Given the description of an element on the screen output the (x, y) to click on. 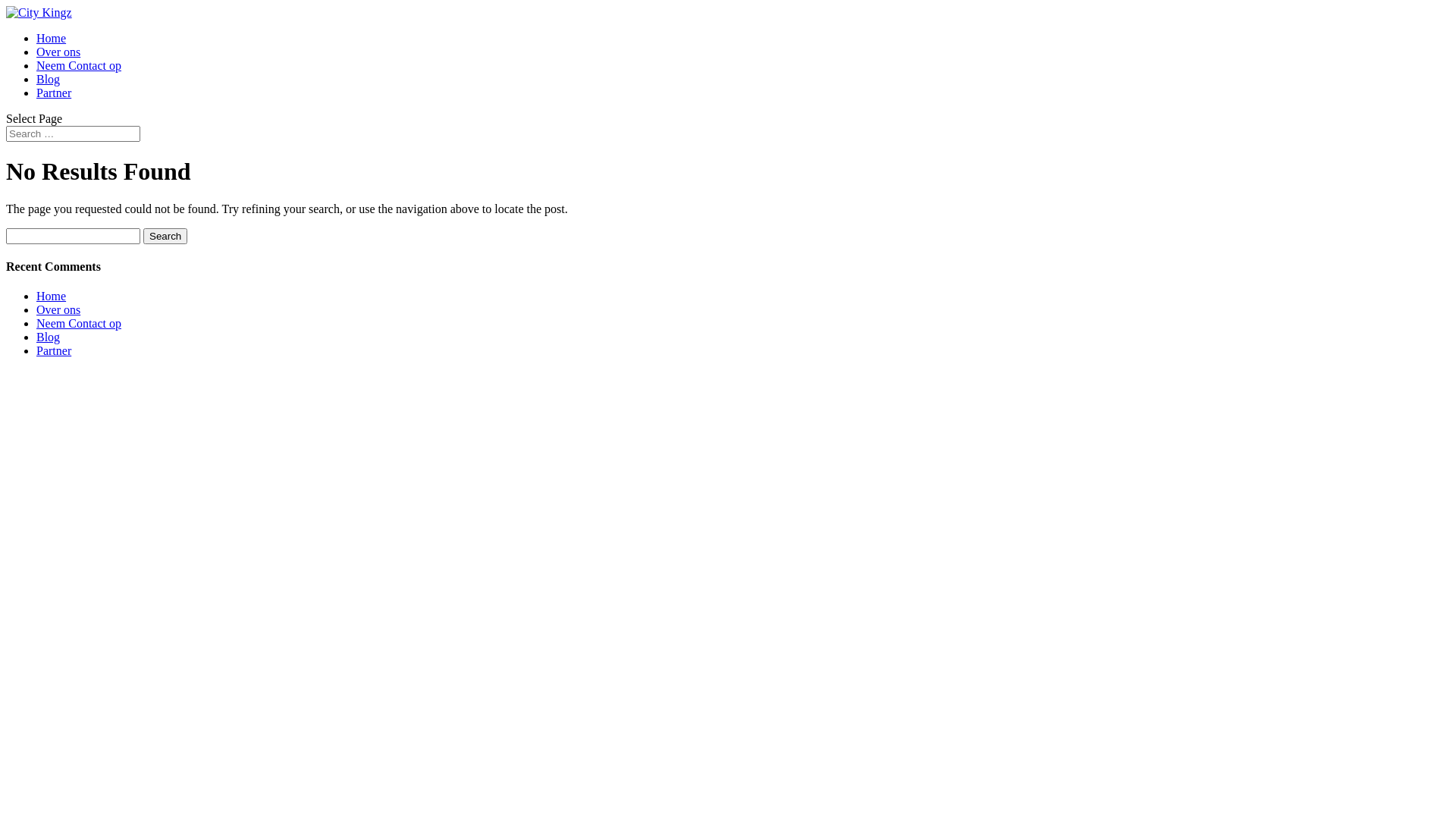
Neem Contact op Element type: text (78, 65)
Home Element type: text (50, 37)
Home Element type: text (50, 295)
Over ons Element type: text (58, 51)
Over ons Element type: text (58, 309)
Search for: Element type: hover (73, 133)
Blog Element type: text (47, 336)
Partner Element type: text (53, 350)
Search Element type: text (165, 236)
Neem Contact op Element type: text (78, 322)
Partner Element type: text (53, 92)
Blog Element type: text (47, 78)
